Given the description of an element on the screen output the (x, y) to click on. 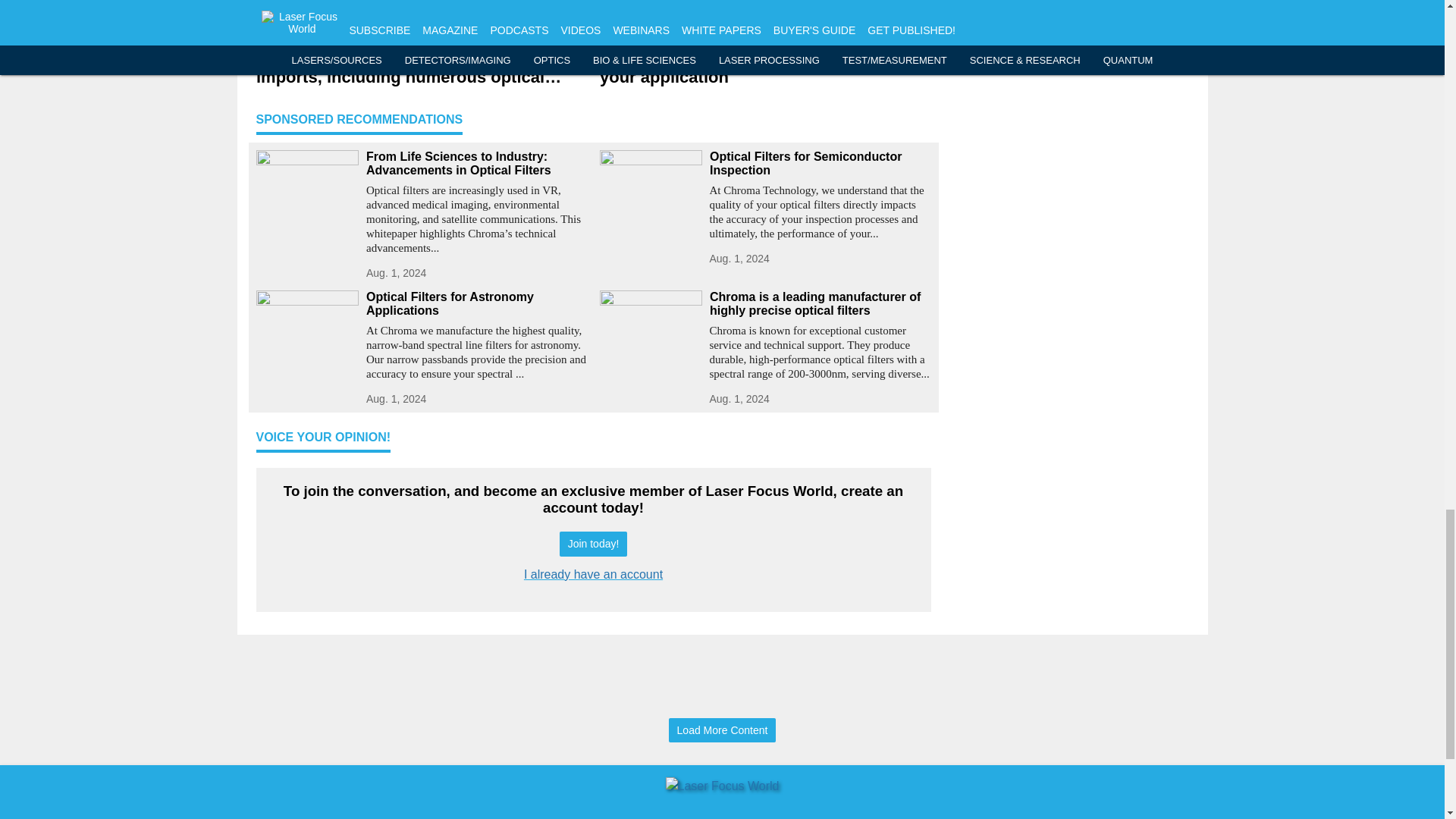
Optical Filters for Semiconductor Inspection (820, 163)
